Given the description of an element on the screen output the (x, y) to click on. 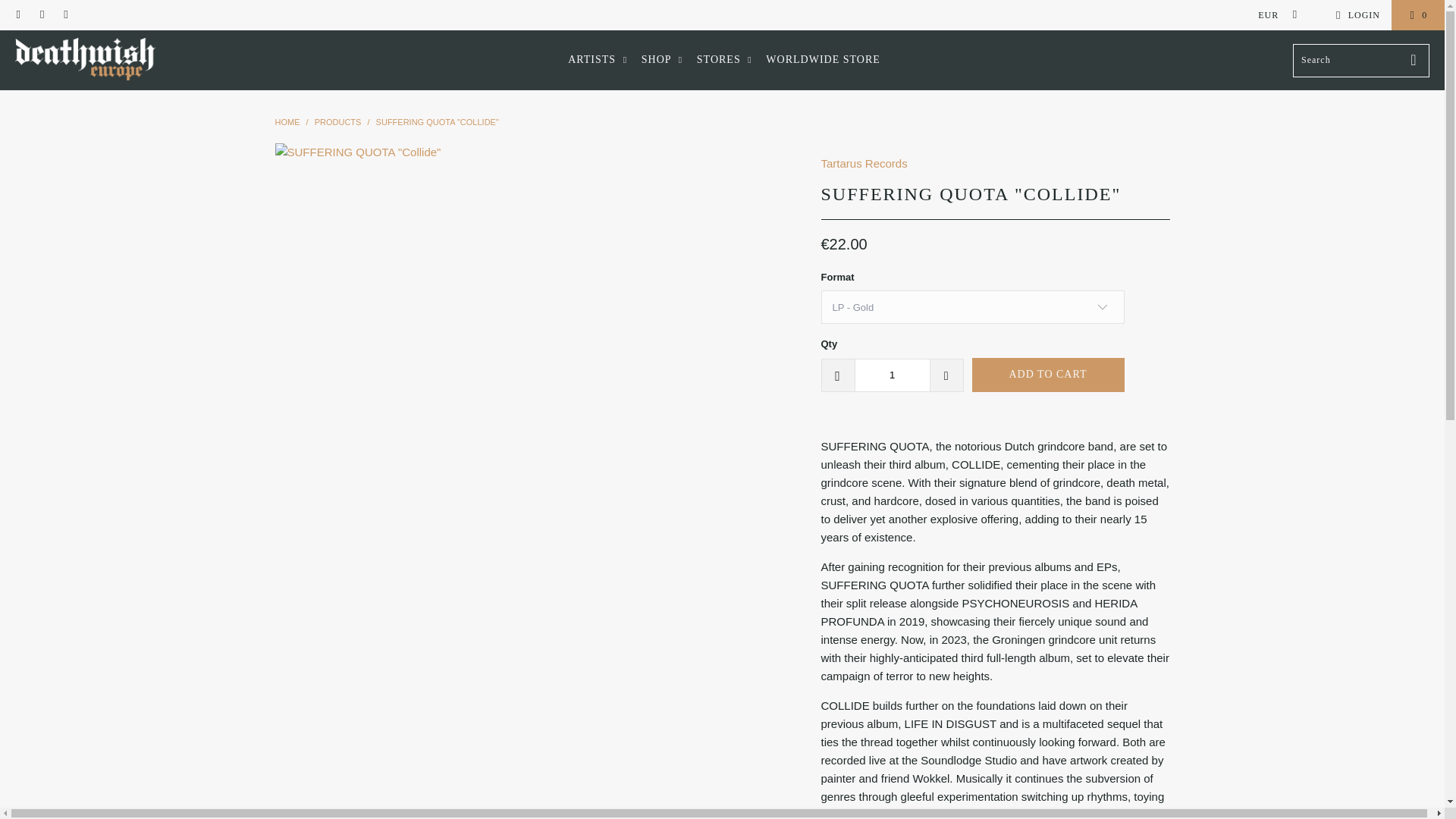
Deathwish Inc Europe (84, 59)
My Account  (1355, 14)
Products (337, 121)
1 (891, 375)
Deathwish Inc Europe on Twitter (17, 14)
Deathwish Inc Europe (287, 121)
Deathwish Inc Europe on Instagram (65, 14)
Deathwish Inc Europe on Facebook (41, 14)
